Given the description of an element on the screen output the (x, y) to click on. 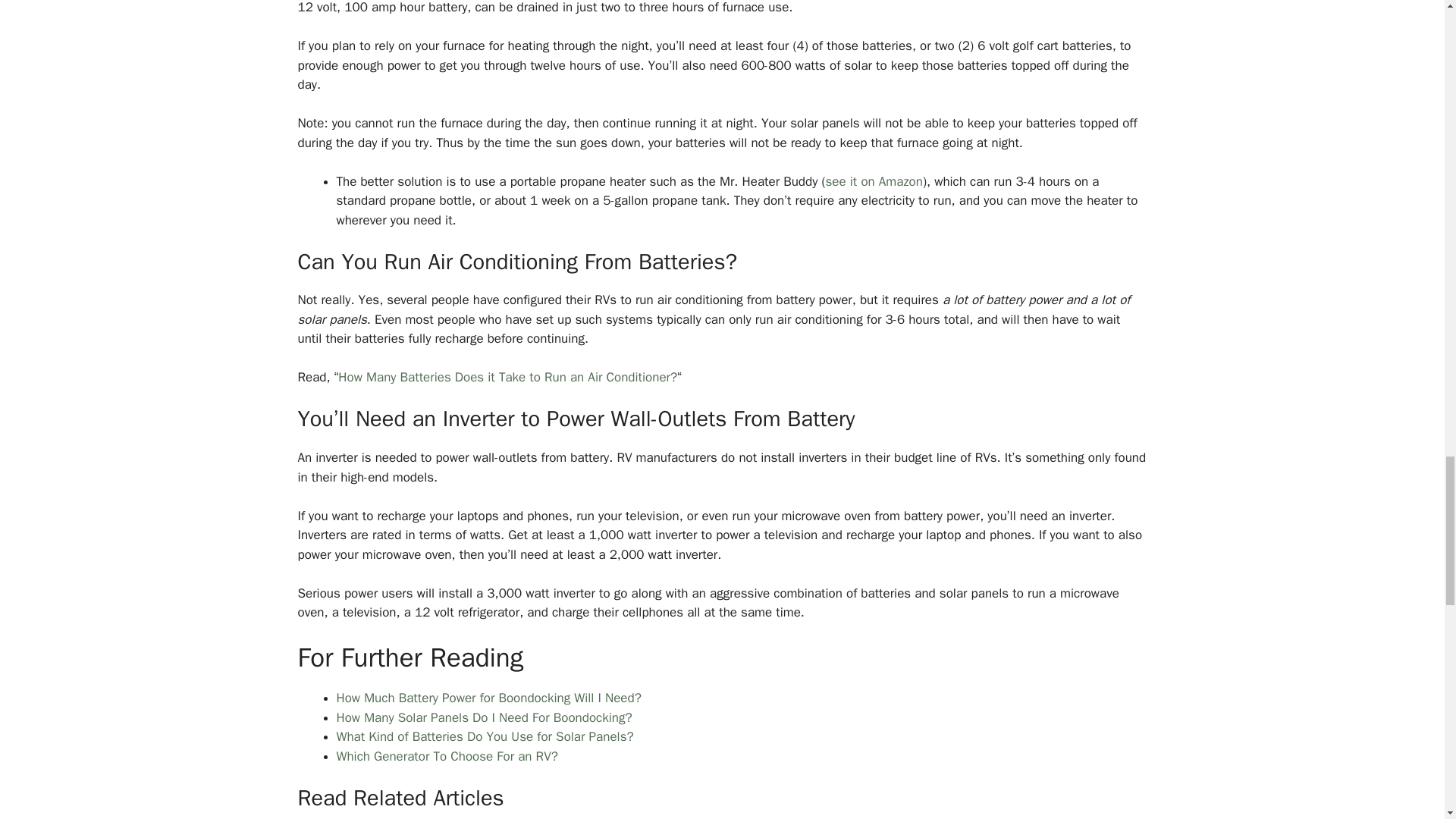
see it on Amazon (874, 181)
Which Generator To Choose For an RV? (446, 756)
How Many Batteries Does it Take to Run an Air Conditioner? (507, 376)
What Kind of Batteries Do You Use for Solar Panels? (484, 736)
How Many Solar Panels Do I Need For Boondocking? (483, 717)
How Much Battery Power for Boondocking Will I Need? (489, 697)
